Given the description of an element on the screen output the (x, y) to click on. 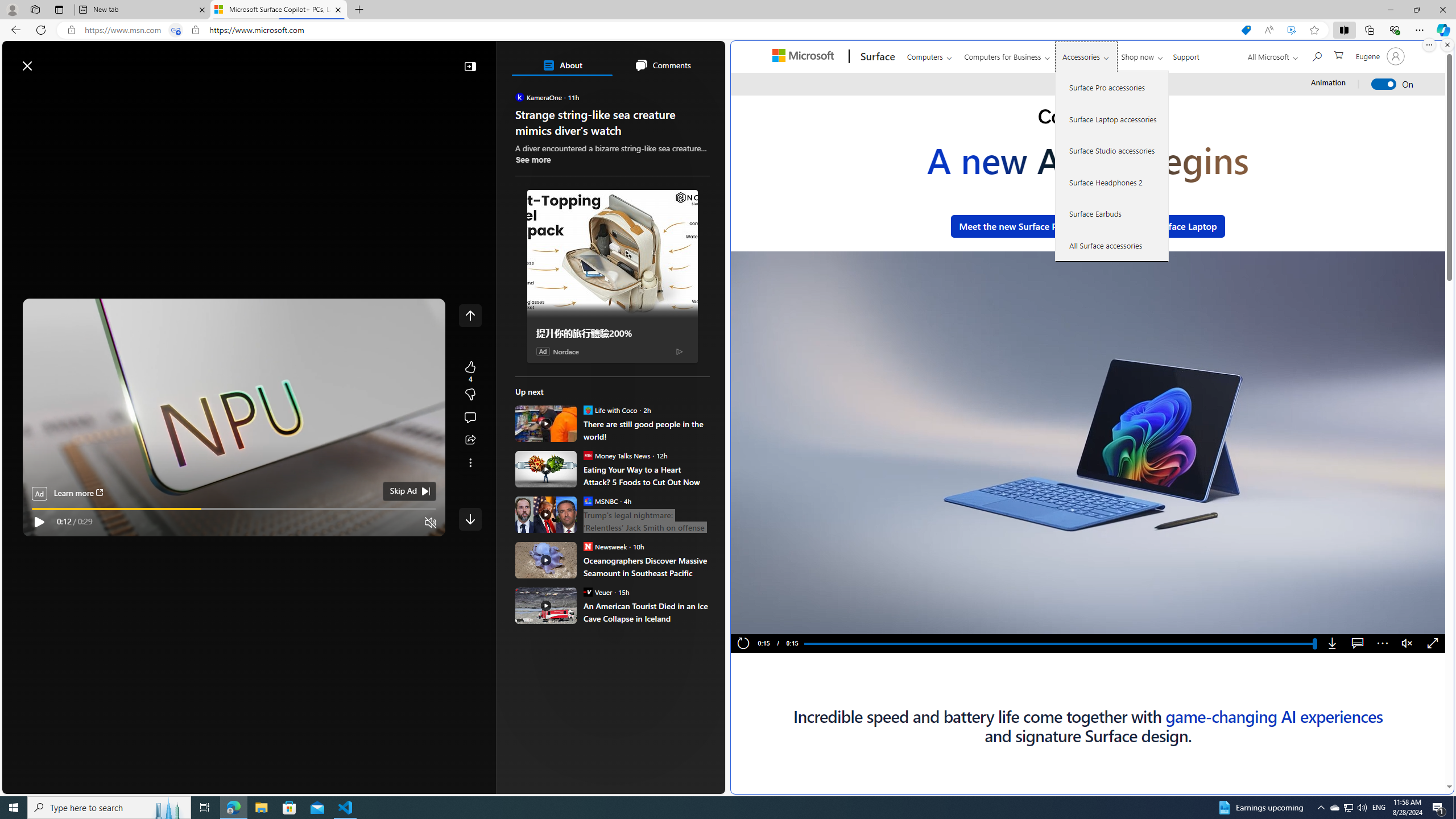
Microsoft rewards (654, 60)
Surface Earbuds (1112, 214)
MSNBC MSNBC (600, 500)
Open settings (699, 60)
Watch (141, 92)
Open navigation menu (16, 92)
There are still good people in the world! (646, 430)
Newsweek Newsweek (604, 546)
